Given the description of an element on the screen output the (x, y) to click on. 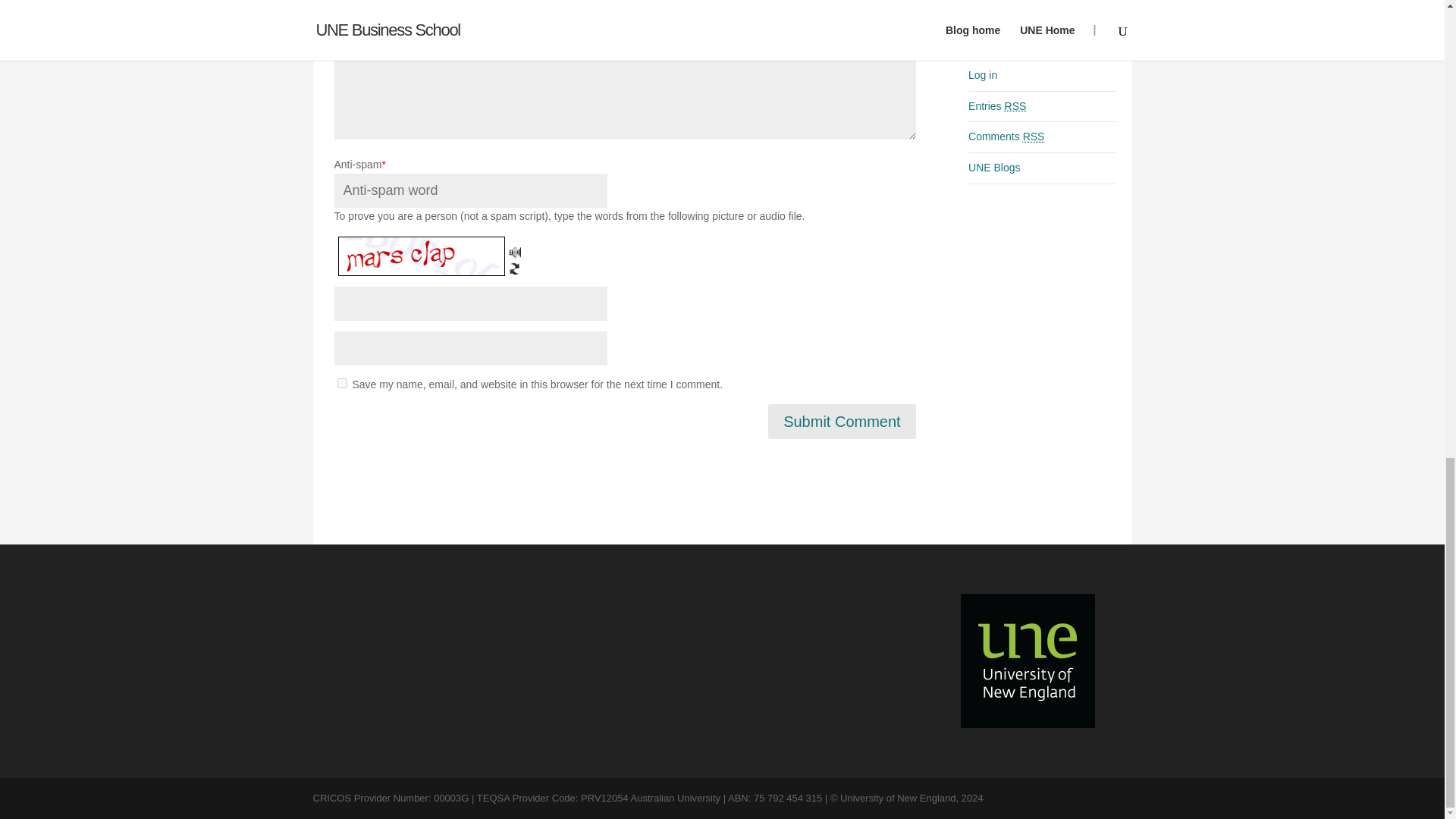
Really Simple Syndication (1015, 105)
Submit Comment (841, 421)
Log in (982, 74)
Entries RSS (997, 105)
The latest comments to all posts in RSS (1005, 136)
Submit Comment (841, 421)
Comments RSS (1005, 136)
Powered by UNE Blogs (994, 167)
Syndicate this site using RSS 2.0 (997, 105)
Listen (513, 246)
UNE Blogs (994, 167)
Really Simple Syndication (1034, 136)
yes (341, 383)
Load new (513, 262)
